Given the description of an element on the screen output the (x, y) to click on. 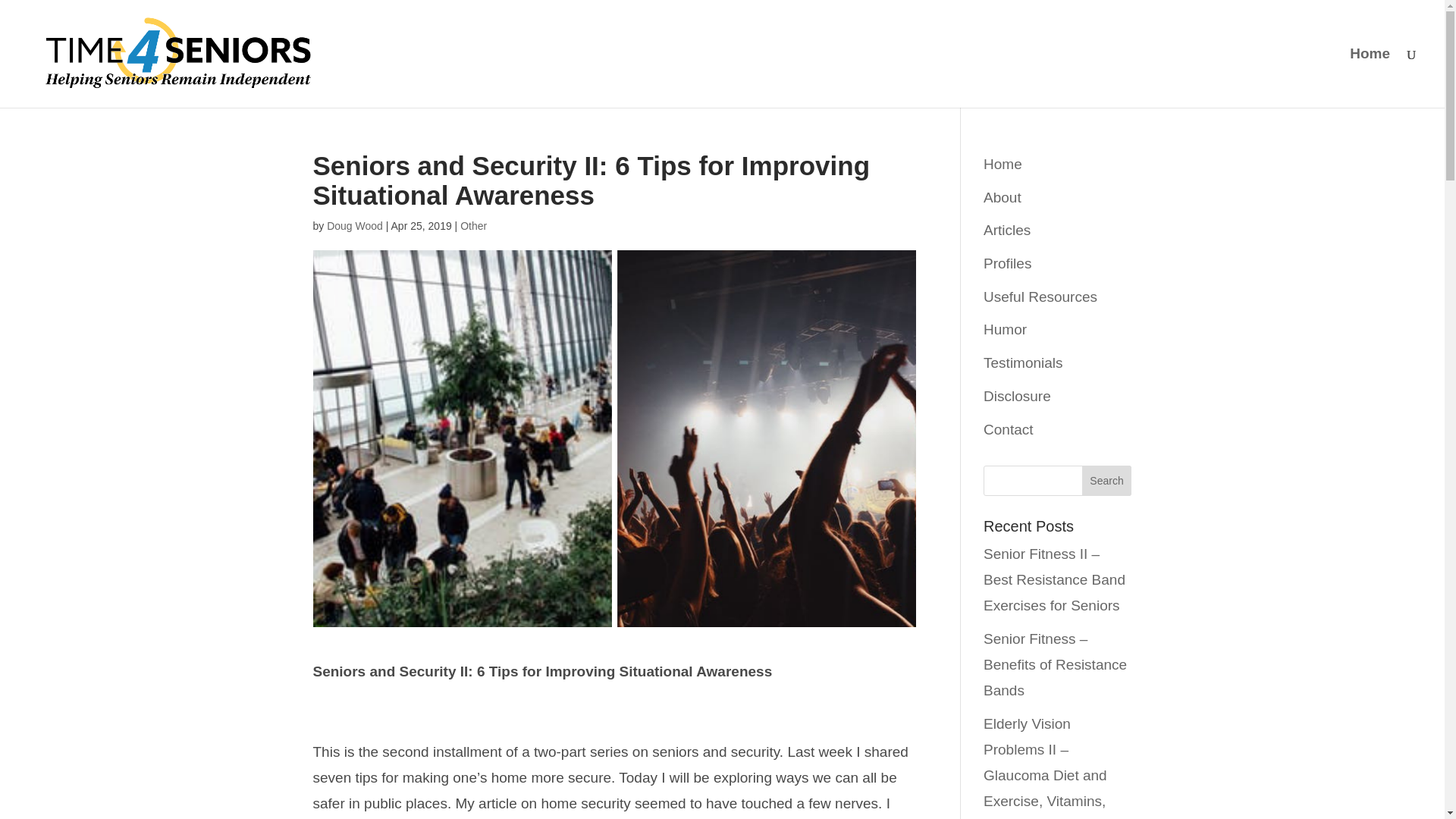
Other (473, 225)
Profiles (1007, 263)
Doug Wood (354, 225)
Home (1003, 163)
About (1003, 197)
Search (1106, 481)
Useful Resources (1040, 296)
Posts by Doug Wood (354, 225)
Disclosure (1017, 396)
Testimonials (1023, 362)
